Given the description of an element on the screen output the (x, y) to click on. 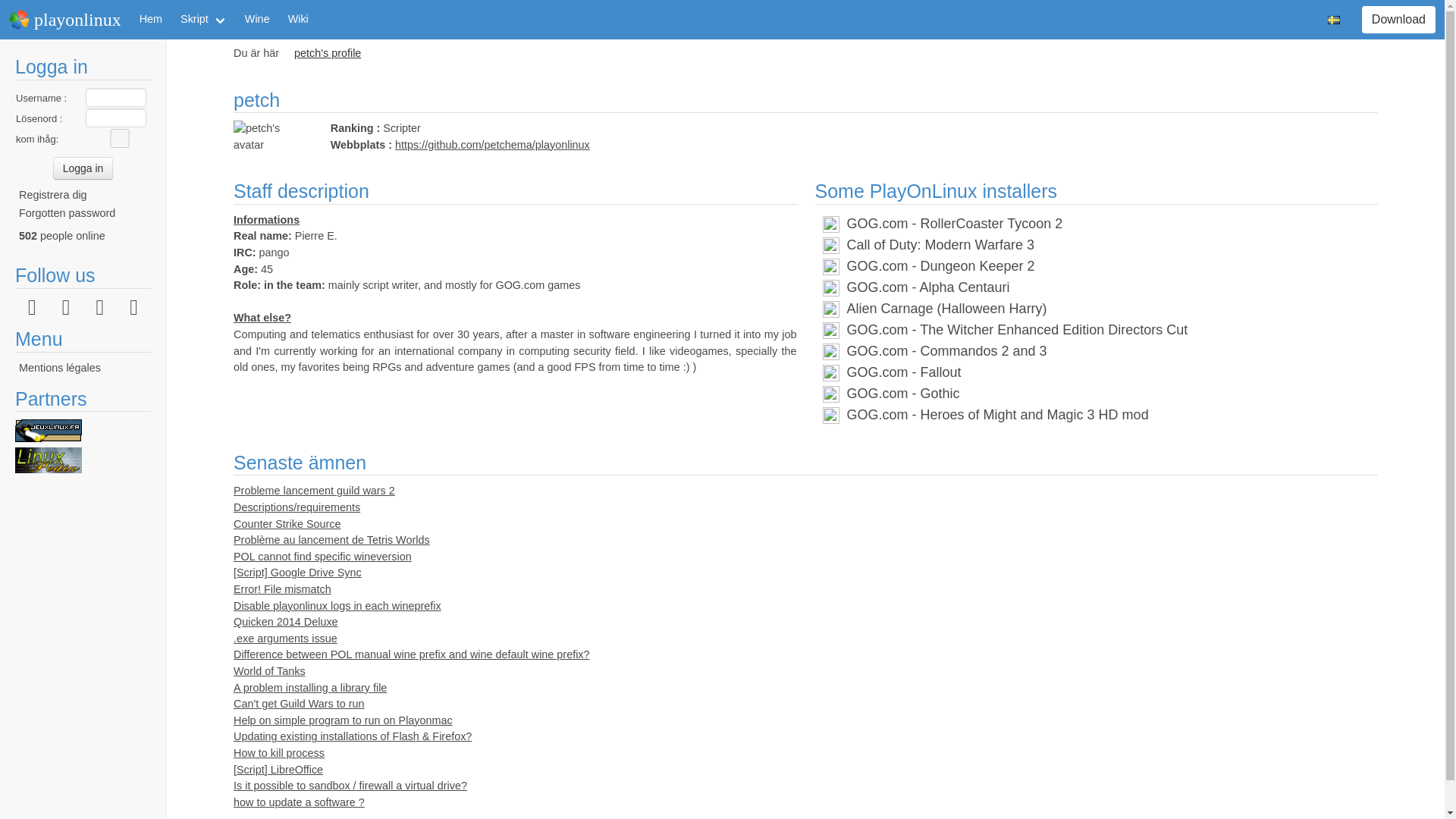
Skript (203, 19)
Wine (257, 19)
petch's profile (331, 53)
Forgotten password (66, 213)
1 (119, 138)
playonlinux (65, 19)
Logga in (82, 167)
Logga in (82, 167)
Hem (151, 19)
Download (1398, 19)
